Given the description of an element on the screen output the (x, y) to click on. 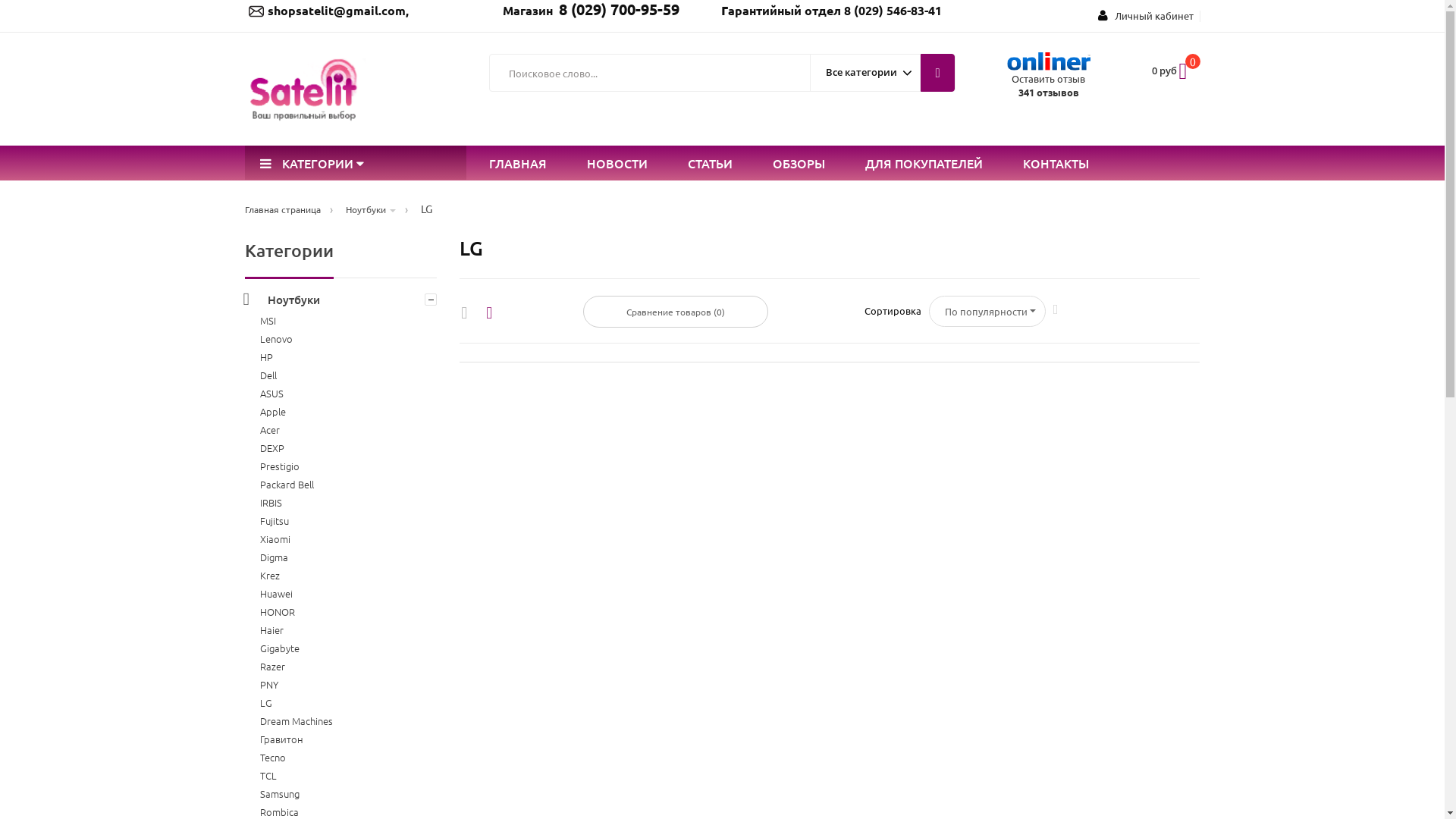
Gigabyte Element type: text (278, 647)
HP Element type: text (265, 356)
HONOR Element type: text (276, 611)
Dream Machines Element type: text (295, 720)
PNY Element type: text (268, 684)
LG Element type: text (265, 702)
IRBIS Element type: text (270, 502)
Packard Bell Element type: text (286, 483)
Apple Element type: text (272, 411)
Prestigio Element type: text (278, 465)
Digma Element type: text (273, 556)
Krez Element type: text (269, 574)
MSI Element type: text (267, 320)
Lenovo Element type: text (275, 338)
Acer Element type: text (269, 429)
Samsung Element type: text (278, 793)
Razer Element type: text (271, 665)
ASUS Element type: text (271, 392)
Haier Element type: text (271, 629)
Tecno Element type: text (272, 756)
TCL Element type: text (267, 775)
DEXP Element type: text (271, 447)
Dell Element type: text (267, 374)
Fujitsu Element type: text (273, 520)
Xiaomi Element type: text (274, 538)
Huawei Element type: text (275, 593)
